Given the description of an element on the screen output the (x, y) to click on. 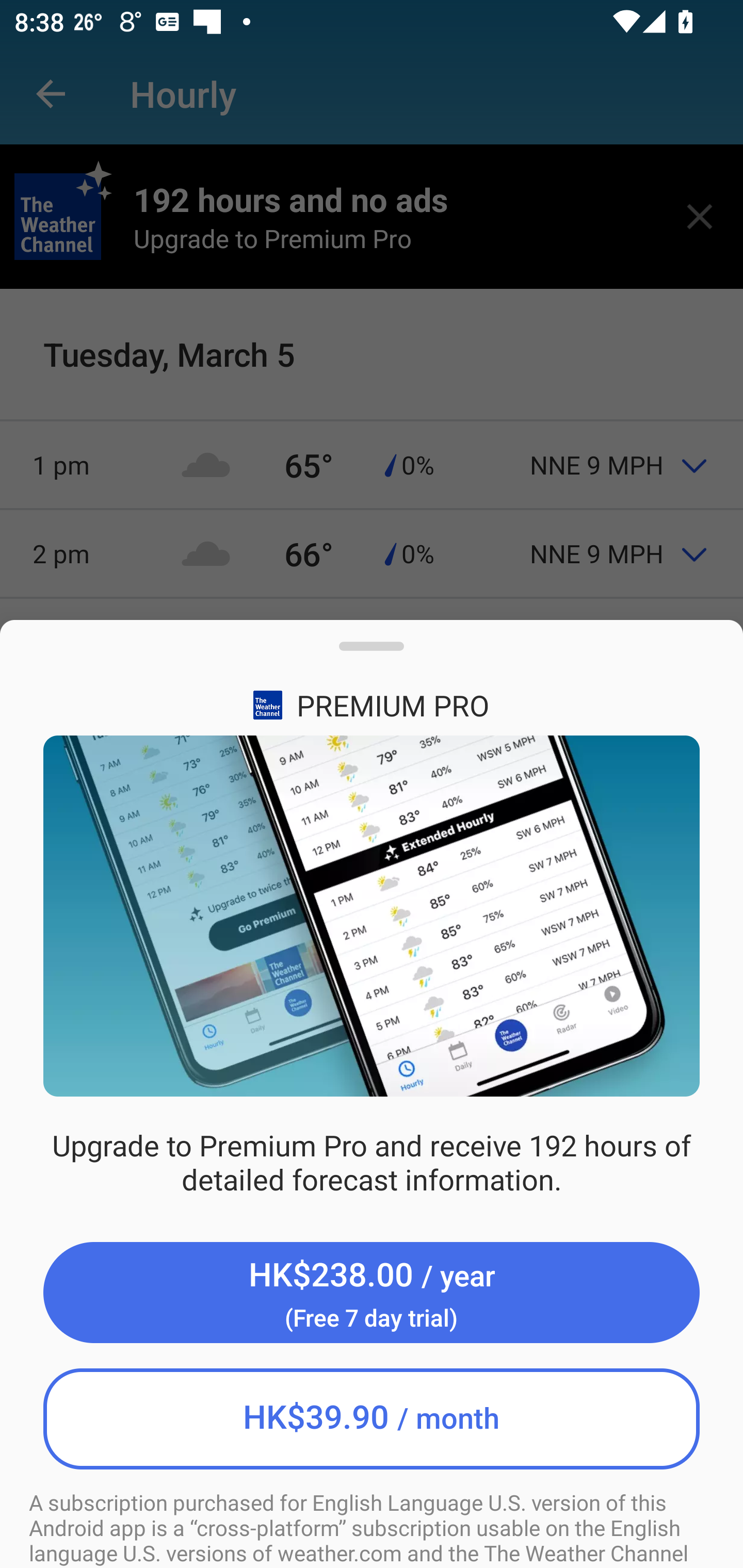
show full description (371, 653)
Logo icon PREMIUM PRO (371, 704)
HK$238.00 / year (Free 7 day trial) (371, 1292)
HK$39.90 / month (371, 1418)
